Given the description of an element on the screen output the (x, y) to click on. 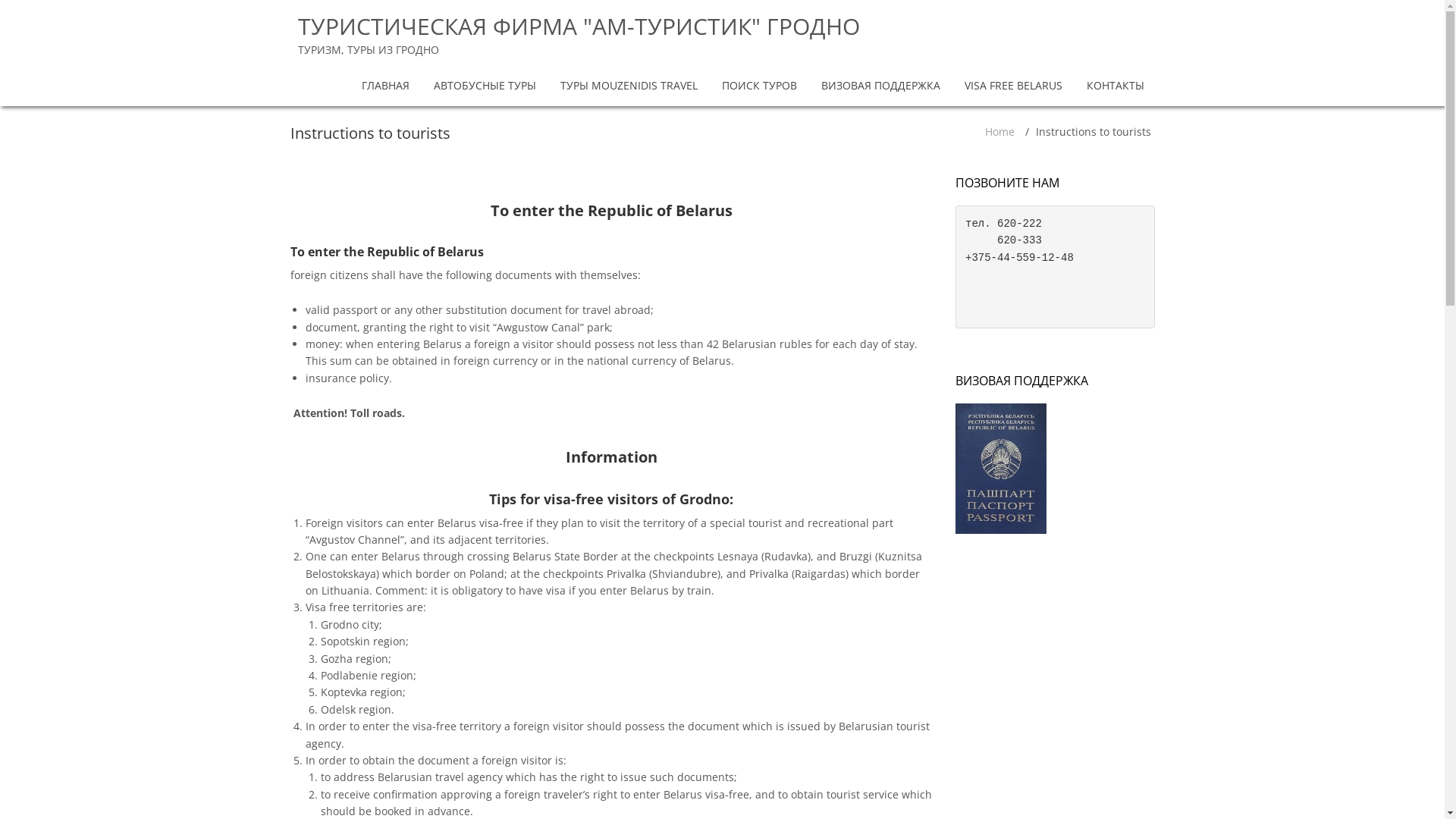
VISA FREE BELARUS Element type: text (1013, 85)
Home Element type: text (998, 131)
